Given the description of an element on the screen output the (x, y) to click on. 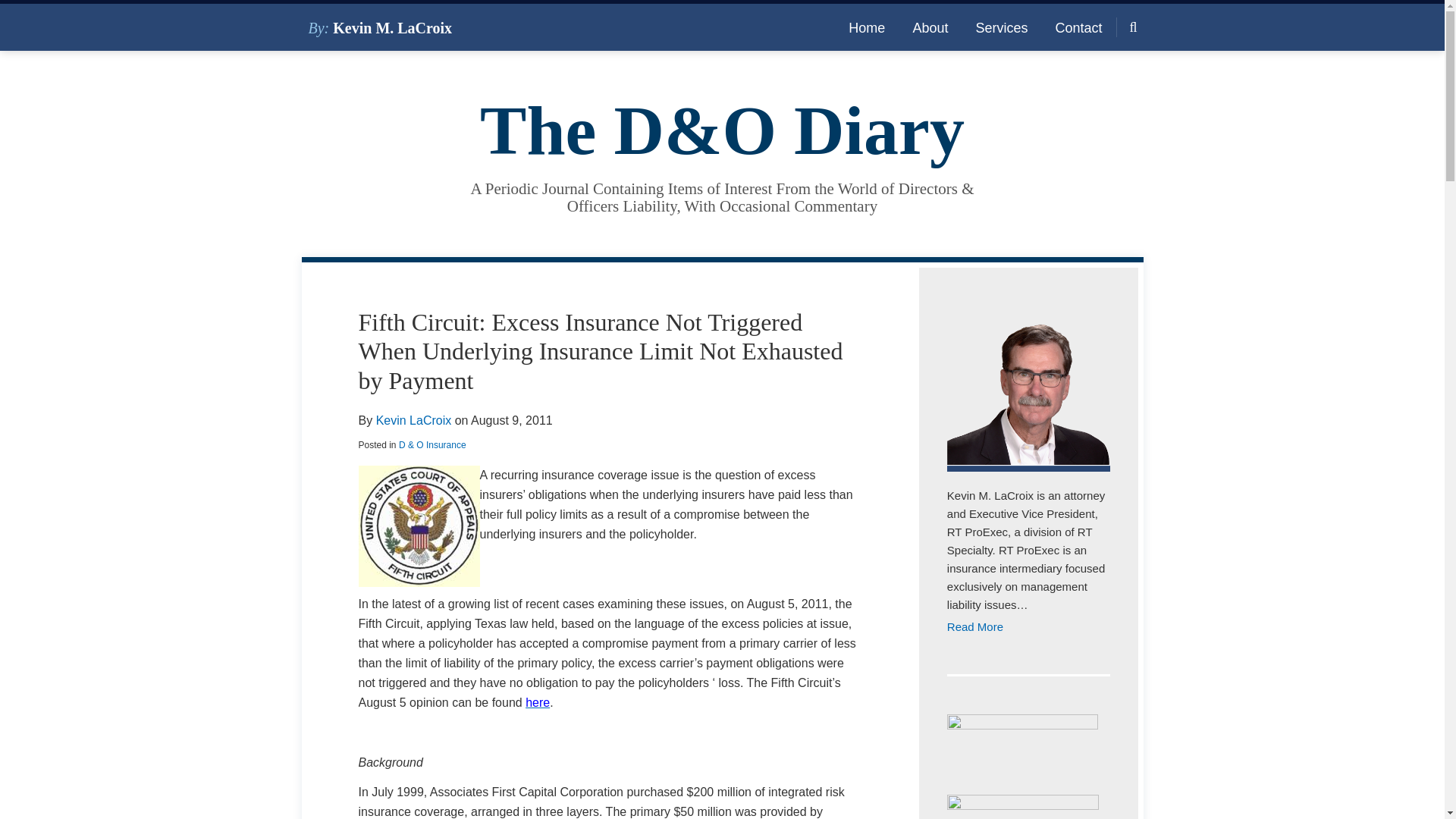
Services (1001, 27)
Read More (1028, 627)
Kevin M. LaCroix (392, 27)
Home (866, 27)
Contact (1078, 27)
Kevin LaCroix (413, 420)
here (537, 702)
About (929, 27)
